Given the description of an element on the screen output the (x, y) to click on. 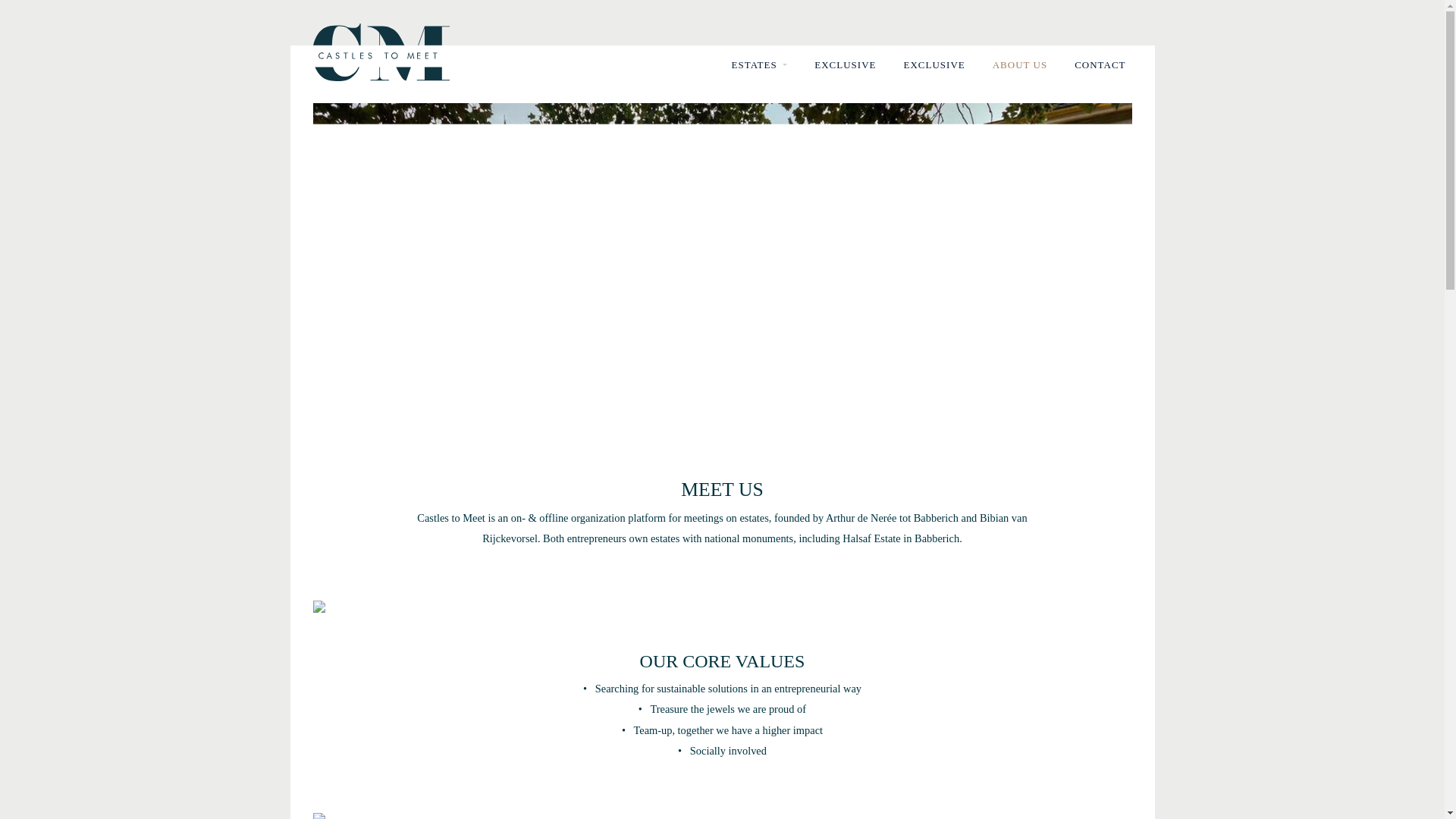
Exclusive (934, 64)
Contact (1099, 64)
ABOUT US (1019, 64)
ESTATES (759, 64)
Exclusive (845, 64)
EXCLUSIVE (934, 64)
Locaties (759, 64)
About us (1019, 64)
EXCLUSIVE (845, 64)
CONTACT (1099, 64)
